Given the description of an element on the screen output the (x, y) to click on. 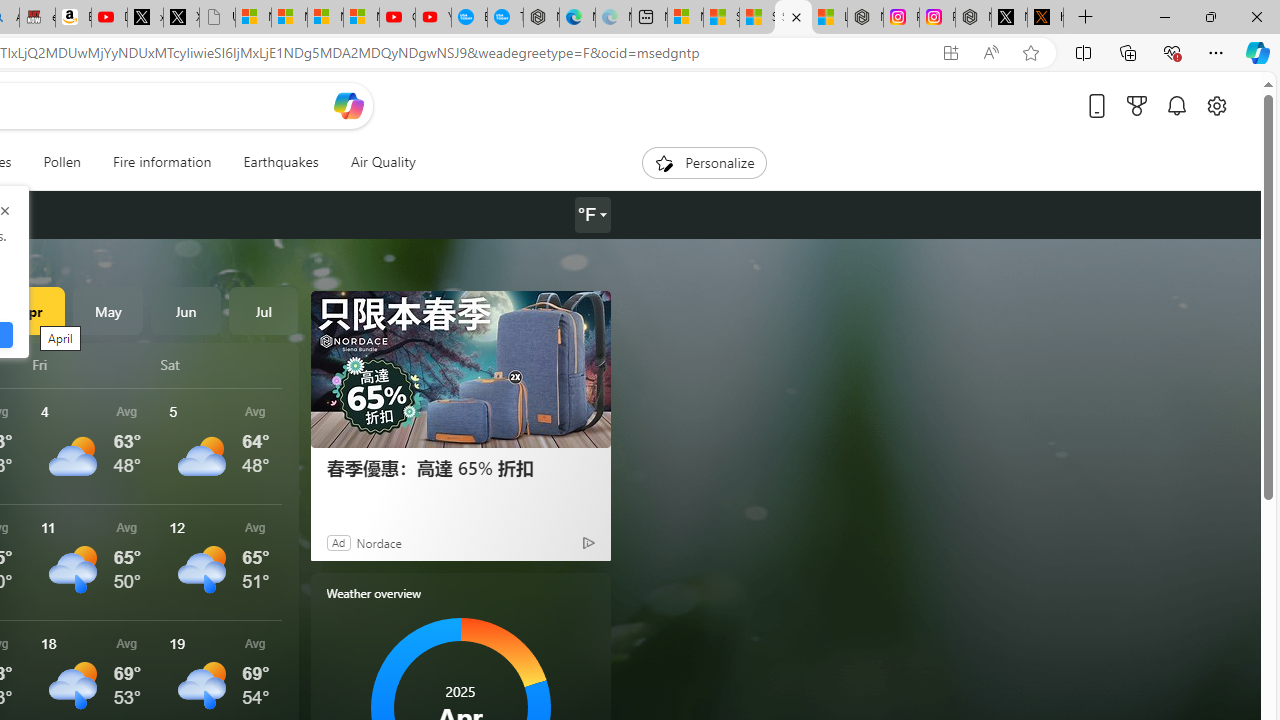
Microsoft rewards (1137, 105)
Shanghai, China weather forecast | Microsoft Weather (721, 17)
Air Quality (382, 162)
help.x.com | 524: A timeout occurred (1045, 17)
Weather settings (591, 215)
Fire information (161, 162)
Earthquakes (280, 162)
